Given the description of an element on the screen output the (x, y) to click on. 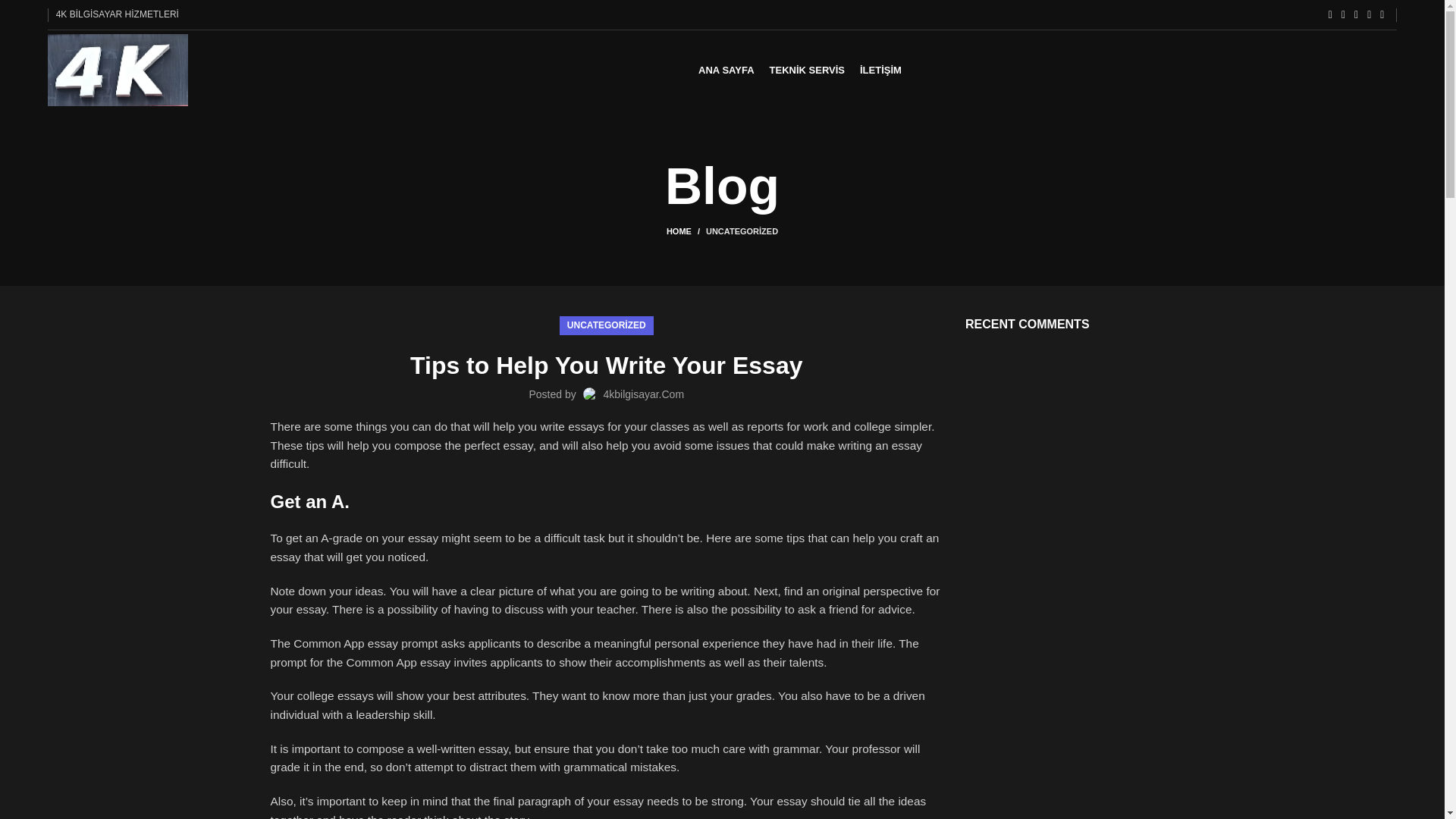
4kbilgisayar.Com (643, 394)
TEKNIK SERVIS (806, 69)
4K (404, 795)
UNCATEGORIZED (606, 325)
UNCATEGORIZED (741, 230)
ANA SAYFA (725, 69)
HOME (686, 231)
